Given the description of an element on the screen output the (x, y) to click on. 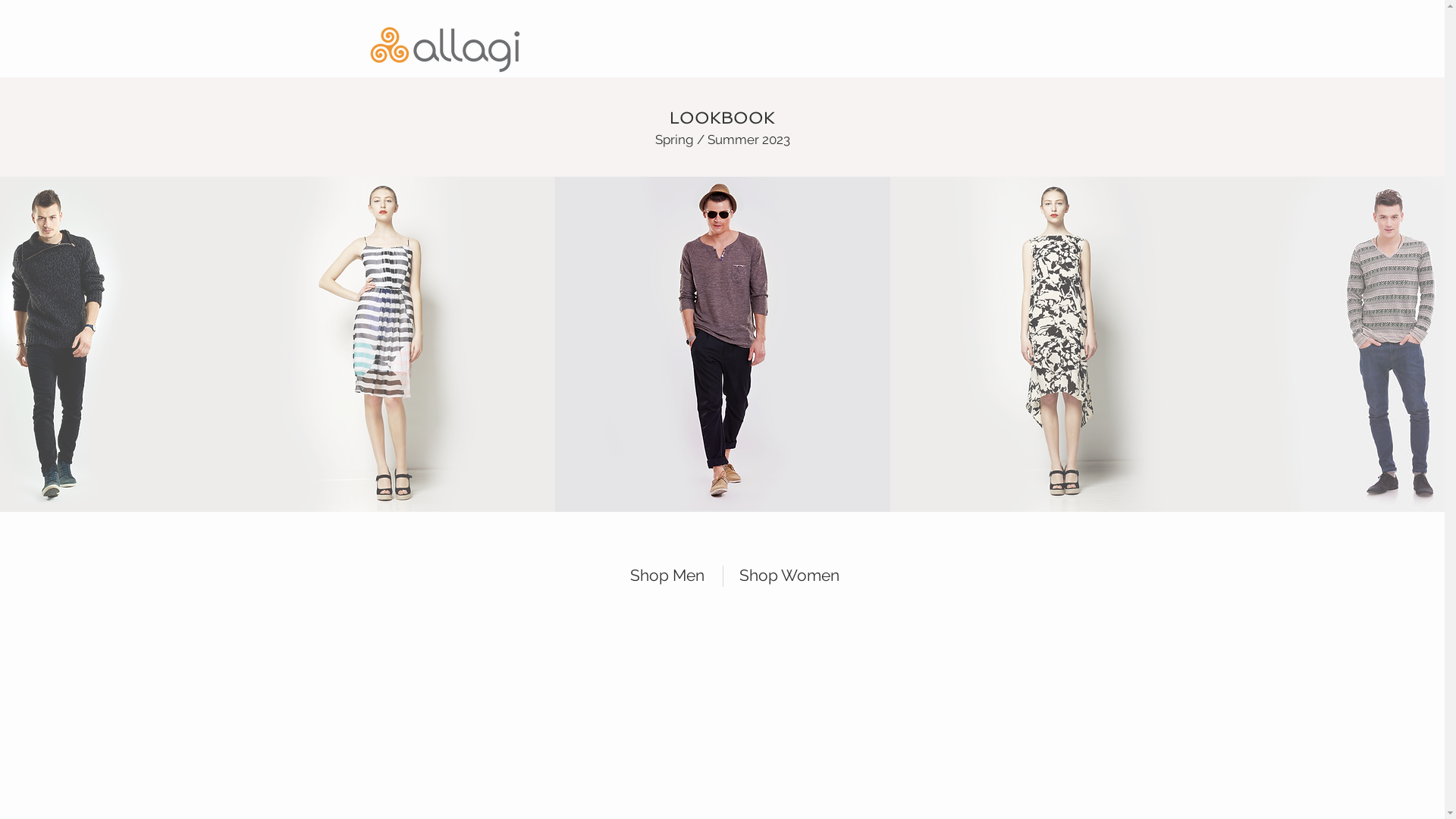
Shop Women Element type: text (795, 574)
Shop Men Element type: text (659, 574)
